Given the description of an element on the screen output the (x, y) to click on. 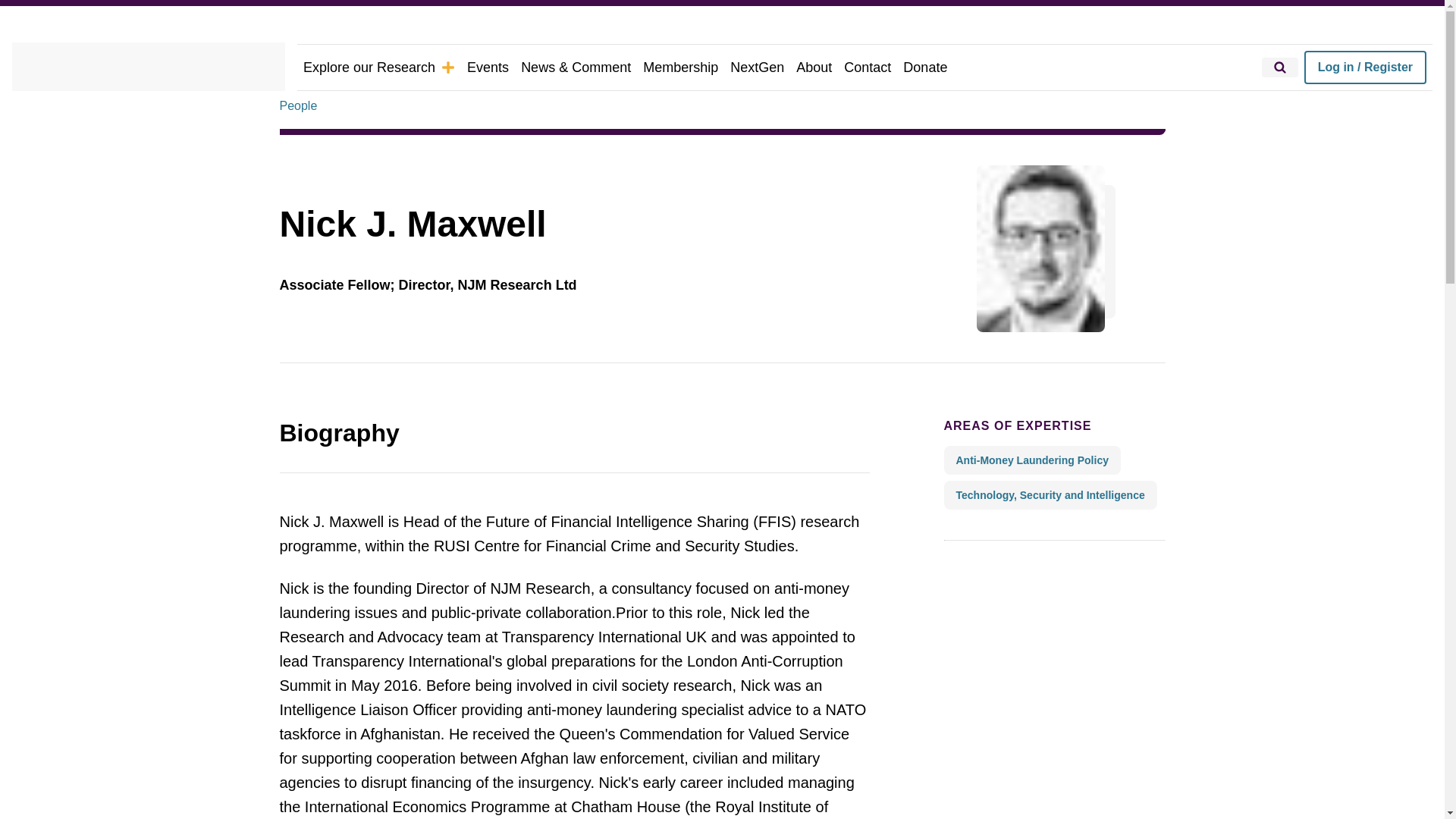
Search RUSI (1280, 66)
About (814, 67)
Anti-Money Laundering Policy (1031, 460)
NextGen (756, 67)
People (298, 106)
Donate (924, 67)
Contact (867, 67)
Membership (680, 67)
Log in (1365, 67)
Technology, Security and Intelligence (1049, 494)
Events (488, 67)
Explore our Research (379, 67)
